Given the description of an element on the screen output the (x, y) to click on. 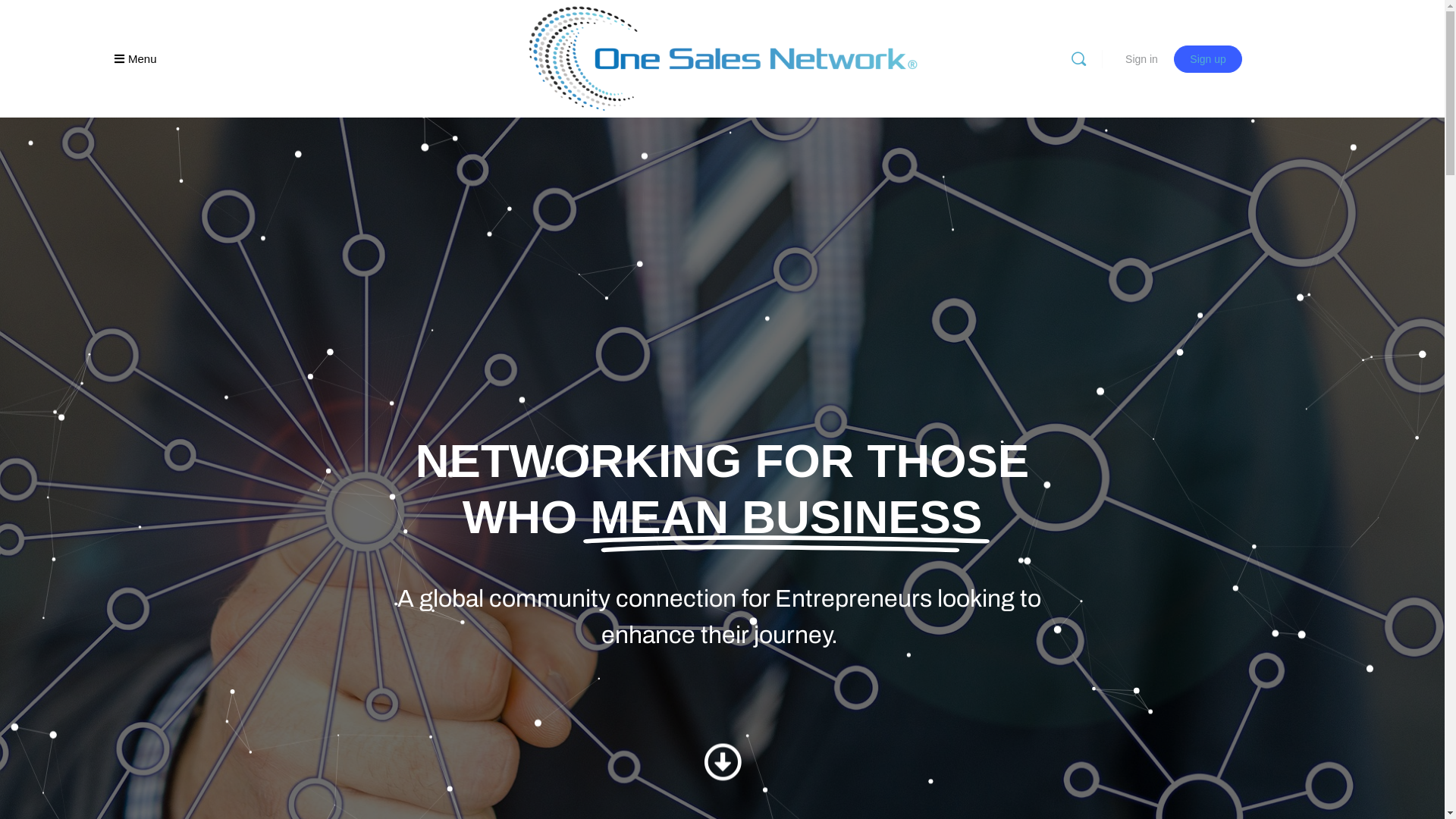
Sign up Element type: text (1207, 58)
Sign in Element type: text (1141, 58)
Menu Element type: text (135, 58)
